Given the description of an element on the screen output the (x, y) to click on. 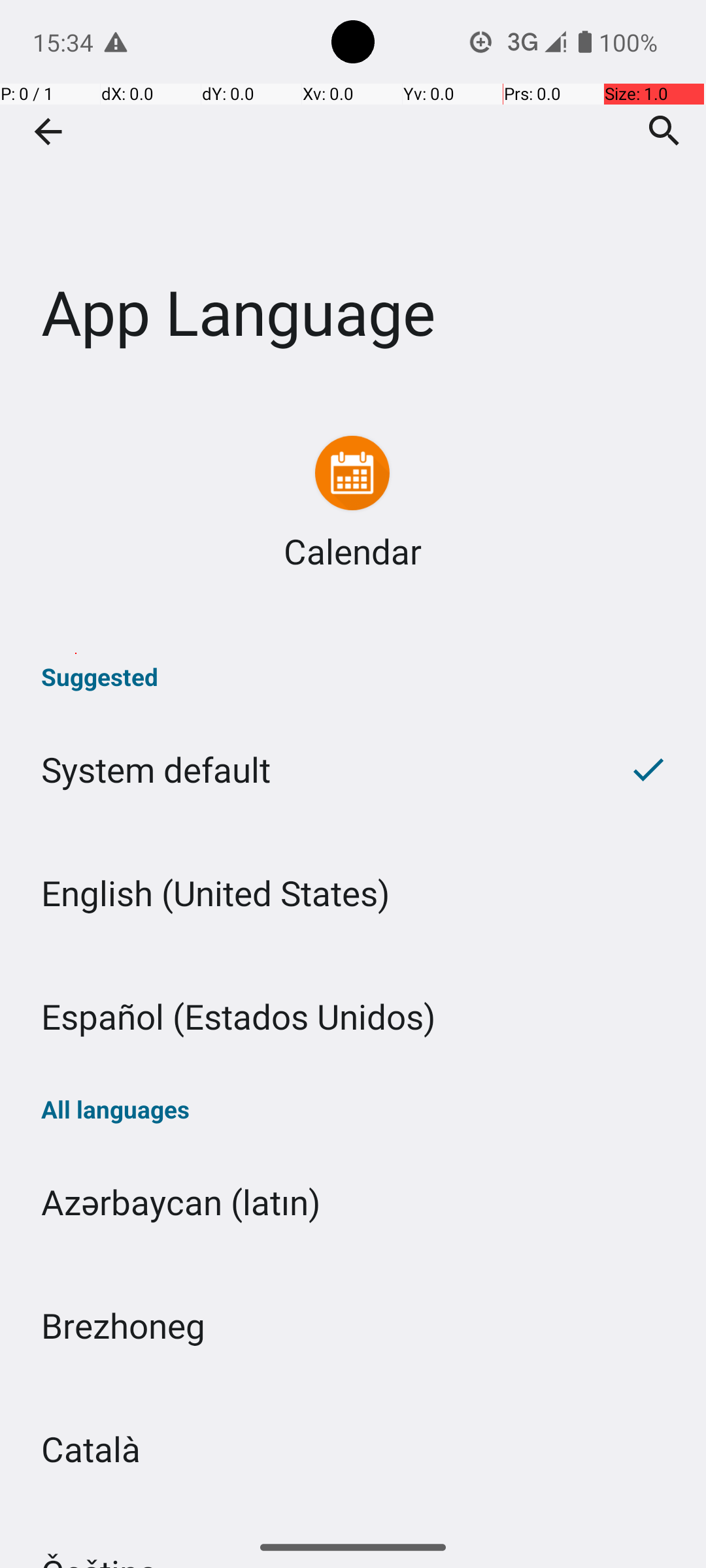
App Language Element type: android.widget.FrameLayout (353, 195)
Suggested Element type: android.widget.TextView (353, 676)
English (United States) Element type: android.widget.TextView (353, 892)
Español (Estados Unidos) Element type: android.widget.TextView (353, 1016)
All languages Element type: android.widget.TextView (353, 1109)
Azərbaycan (latın) Element type: android.widget.TextView (353, 1201)
Brezhoneg Element type: android.widget.TextView (353, 1325)
Català Element type: android.widget.TextView (353, 1448)
Čeština Element type: android.widget.TextView (353, 1518)
System default Element type: android.widget.TextView (295, 769)
